Given the description of an element on the screen output the (x, y) to click on. 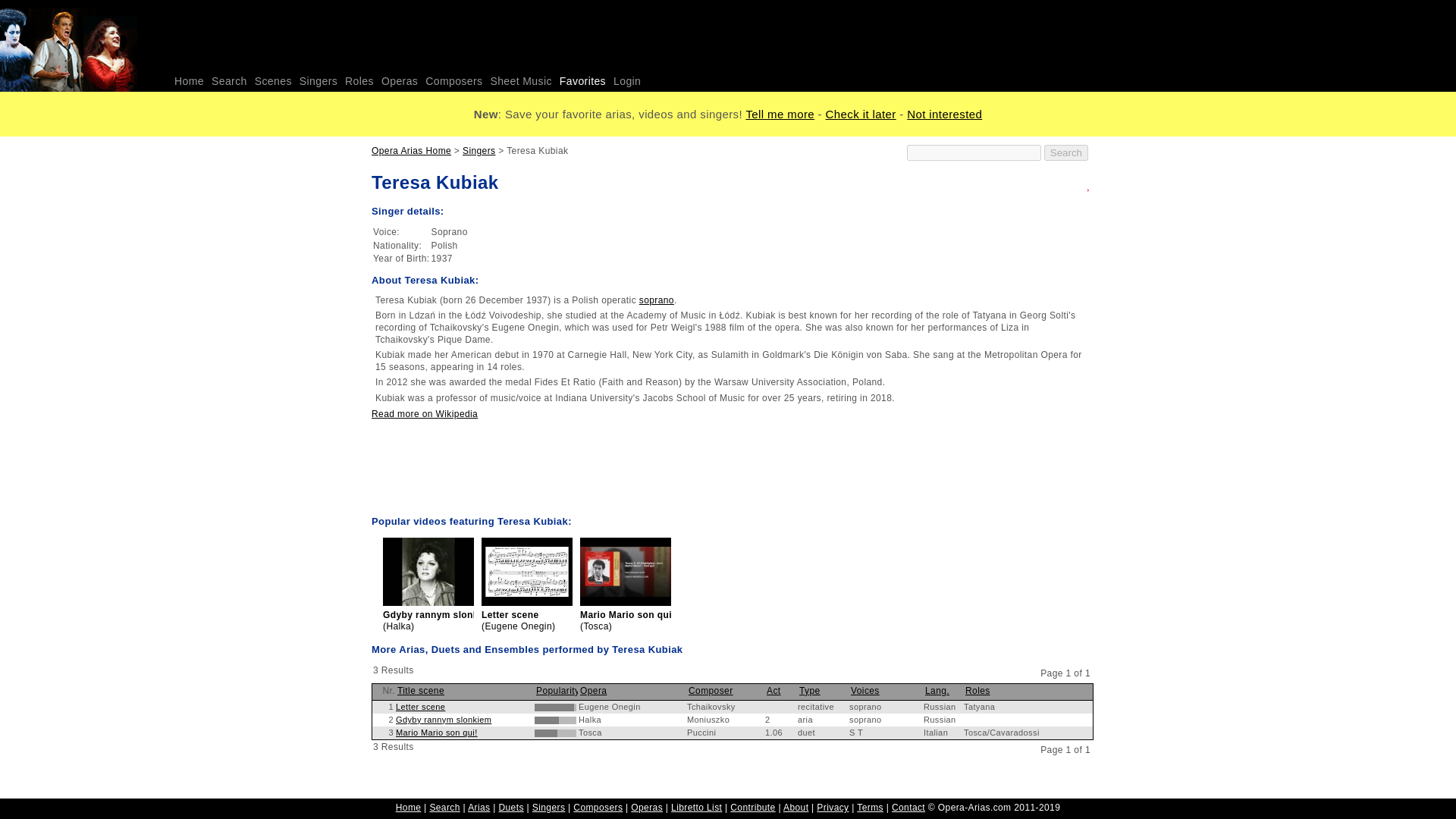
soprano (656, 299)
Roles (359, 82)
Singers (479, 150)
Letter scene (420, 706)
Search (229, 82)
Composer (710, 690)
Tell me more (779, 113)
Home (188, 82)
Type (810, 690)
Search (1065, 152)
